Given the description of an element on the screen output the (x, y) to click on. 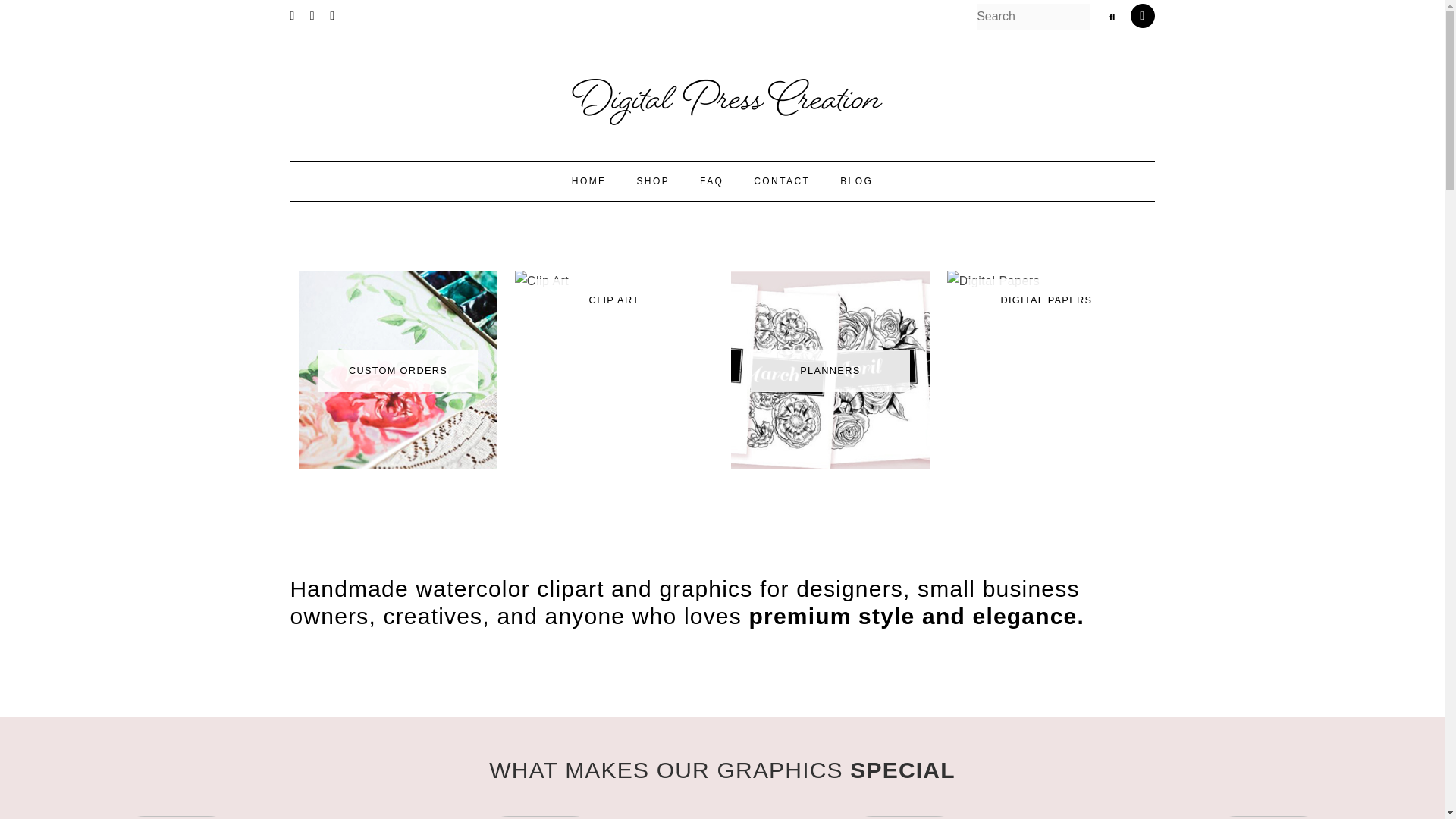
HOME (588, 180)
FAQ (711, 180)
CONTACT (781, 180)
SHOP (652, 180)
digitalpresscreation.com (721, 99)
BLOG (856, 180)
View your shopping cart (1141, 15)
